Given the description of an element on the screen output the (x, y) to click on. 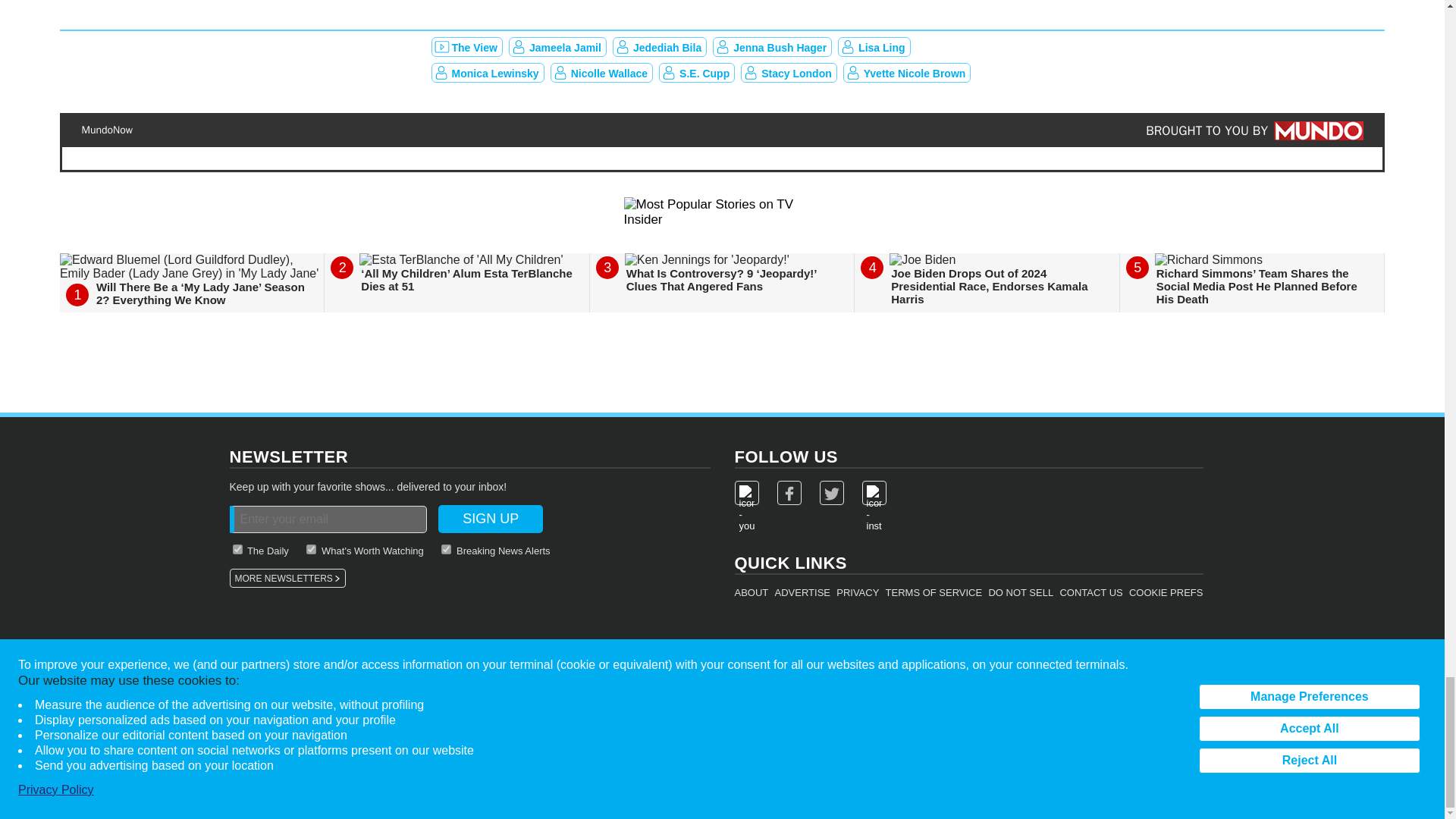
1 (310, 549)
SIGN UP (490, 519)
2 (236, 549)
4 (446, 549)
